Given the description of an element on the screen output the (x, y) to click on. 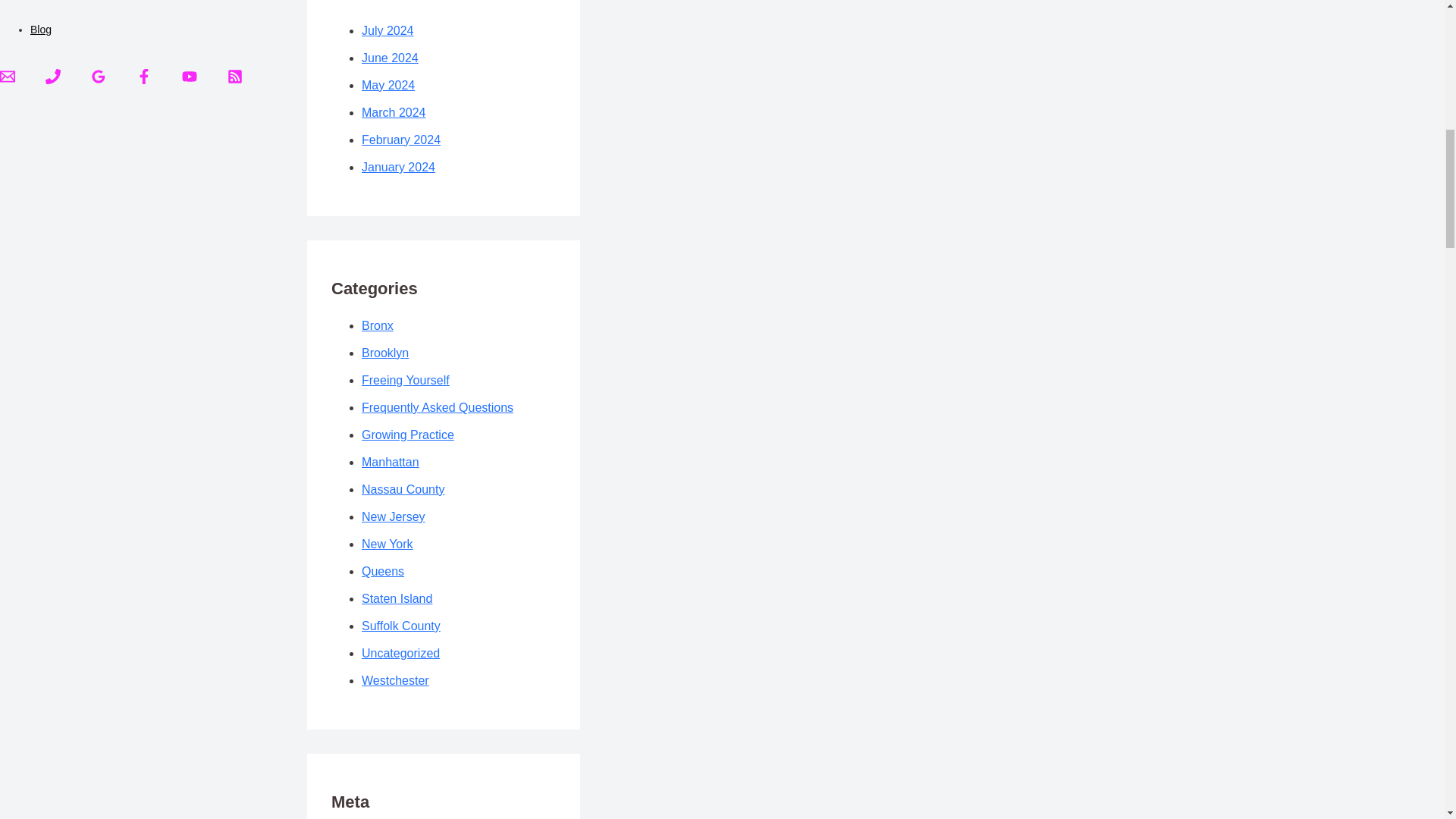
Google Reviews (98, 76)
Blog (40, 29)
Email (7, 76)
Google Reviews (98, 80)
Email (7, 80)
